Given the description of an element on the screen output the (x, y) to click on. 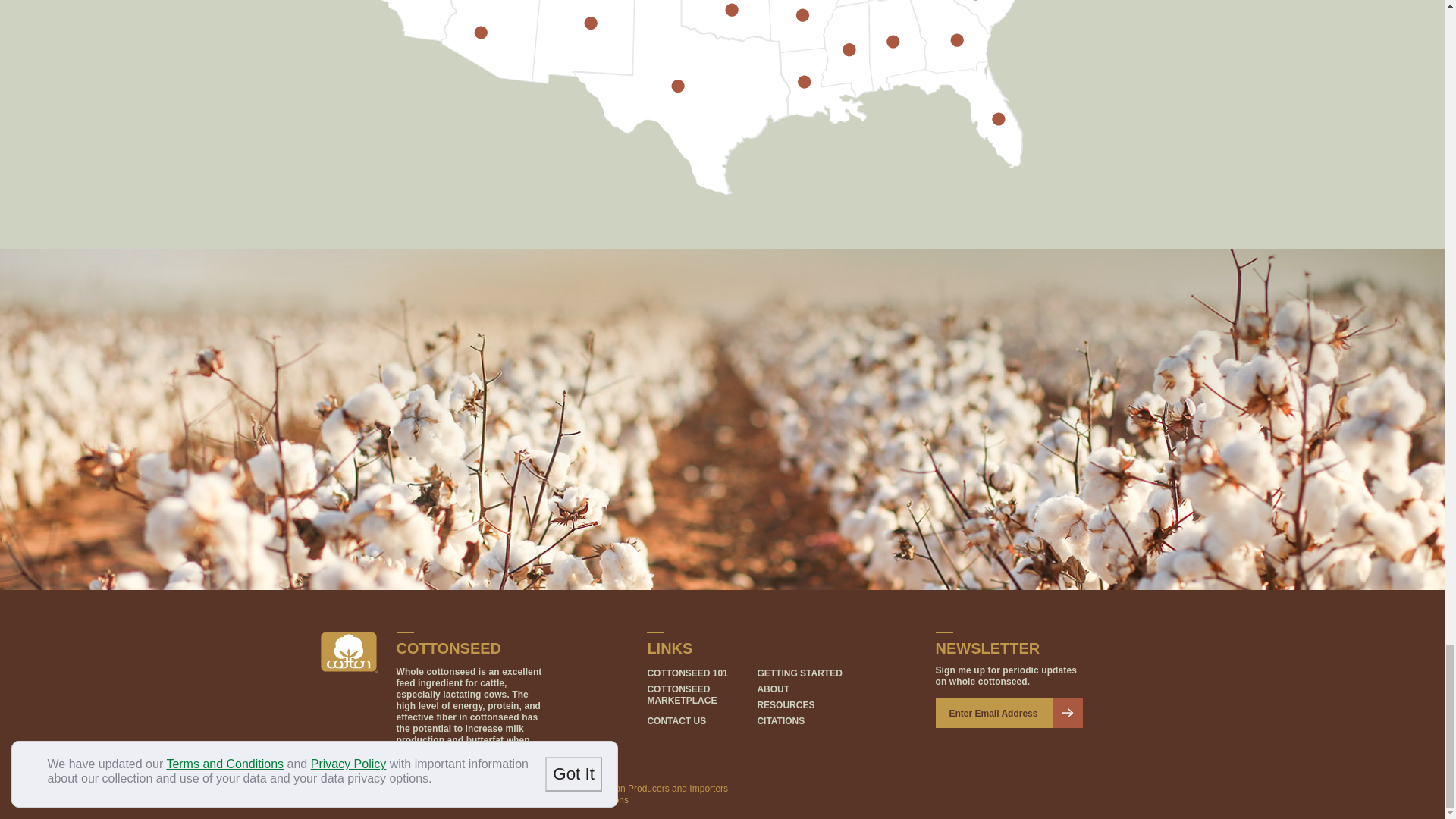
RESOURCES (785, 705)
Subscribe (1067, 713)
Cotton Incorporated website (348, 652)
Opens new window (348, 652)
GETTING STARTED (799, 673)
COTTONSEED MARKETPLACE (681, 694)
COTTONSEED 101 (686, 673)
CONTACT US (676, 720)
ABOUT (773, 688)
